Given the description of an element on the screen output the (x, y) to click on. 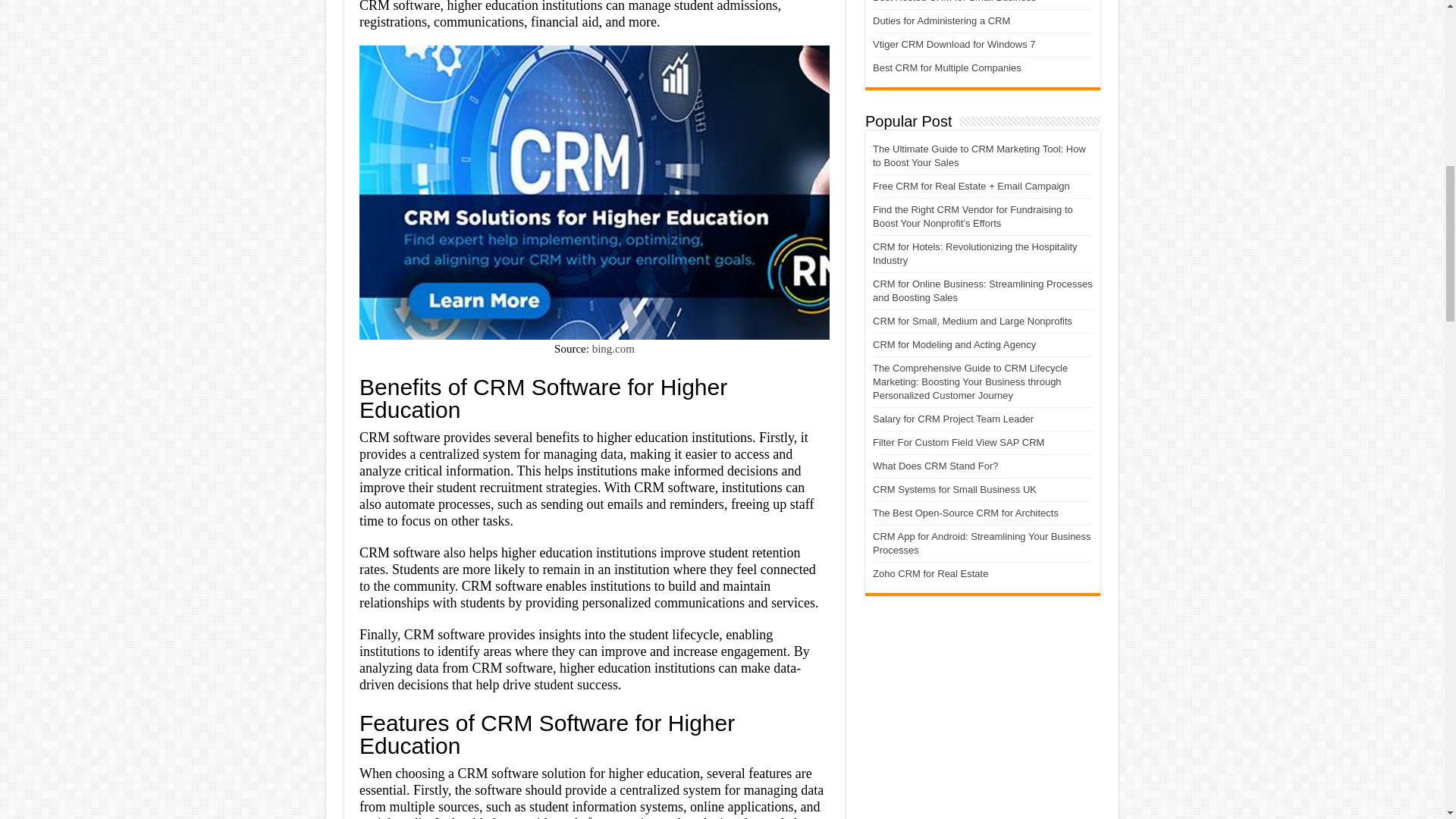
bing.com (613, 348)
